Given the description of an element on the screen output the (x, y) to click on. 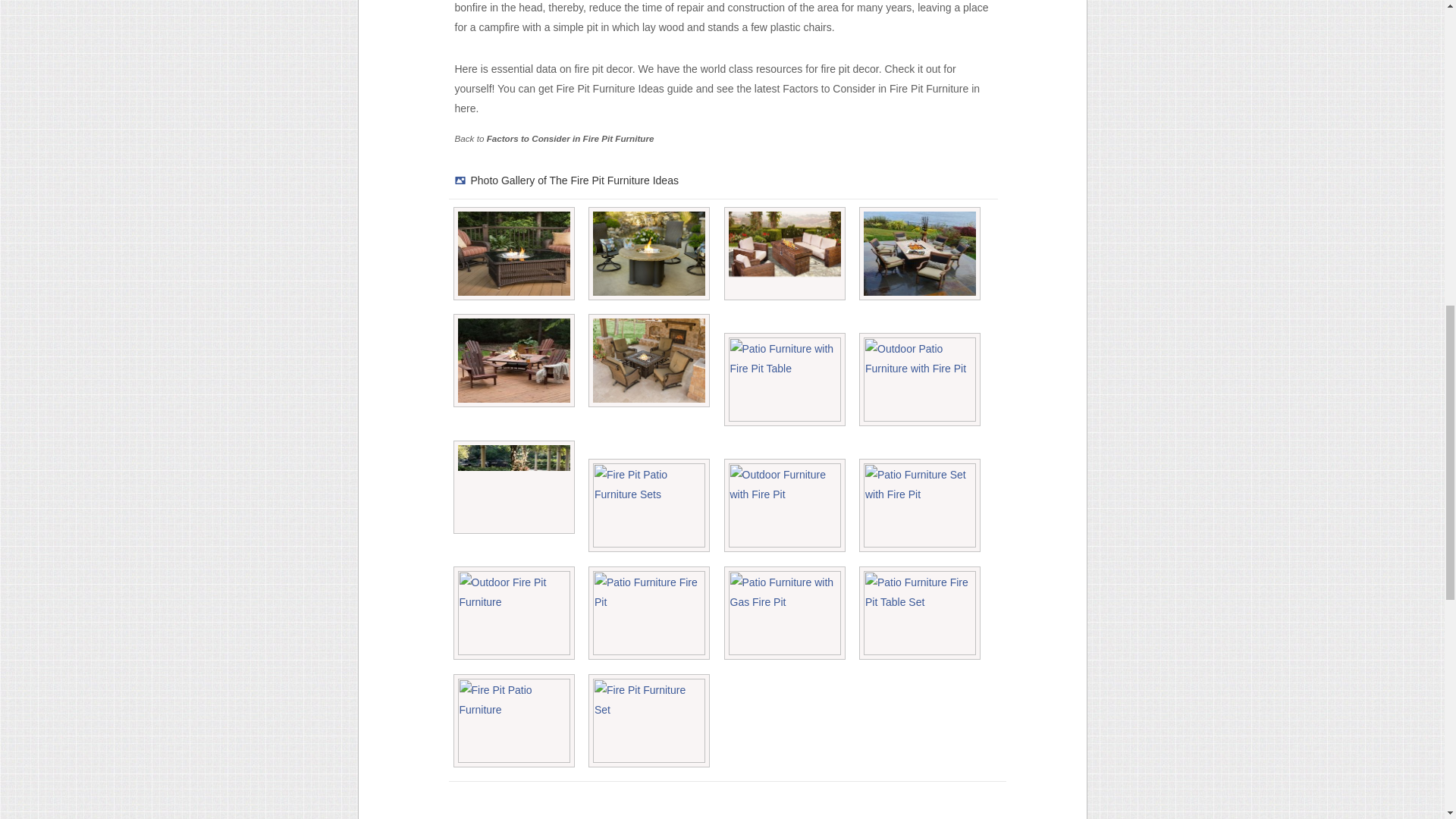
Factors to Consider in Fire Pit Furniture (569, 138)
Return to Factors to Consider in Fire Pit Furniture (569, 138)
here (465, 108)
